Given the description of an element on the screen output the (x, y) to click on. 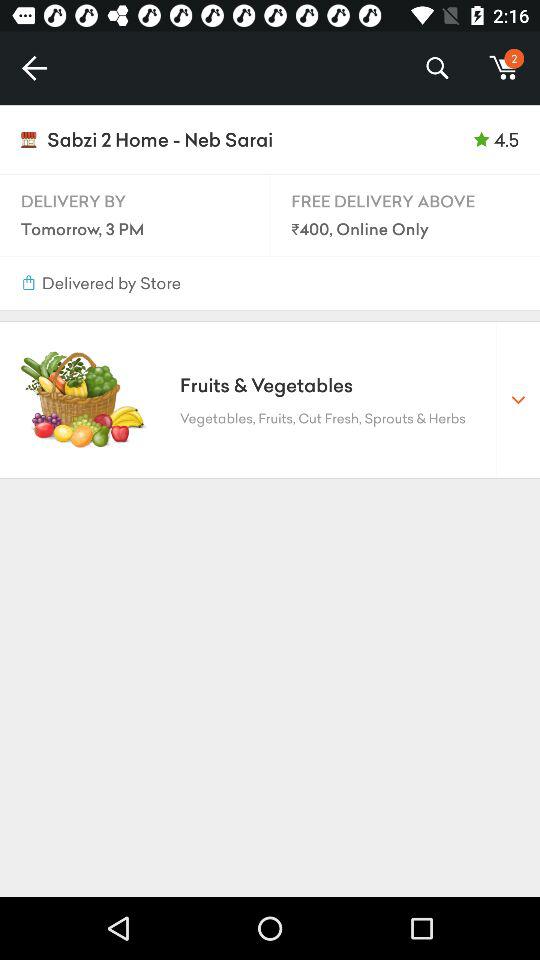
scroll to % icon (436, 67)
